Given the description of an element on the screen output the (x, y) to click on. 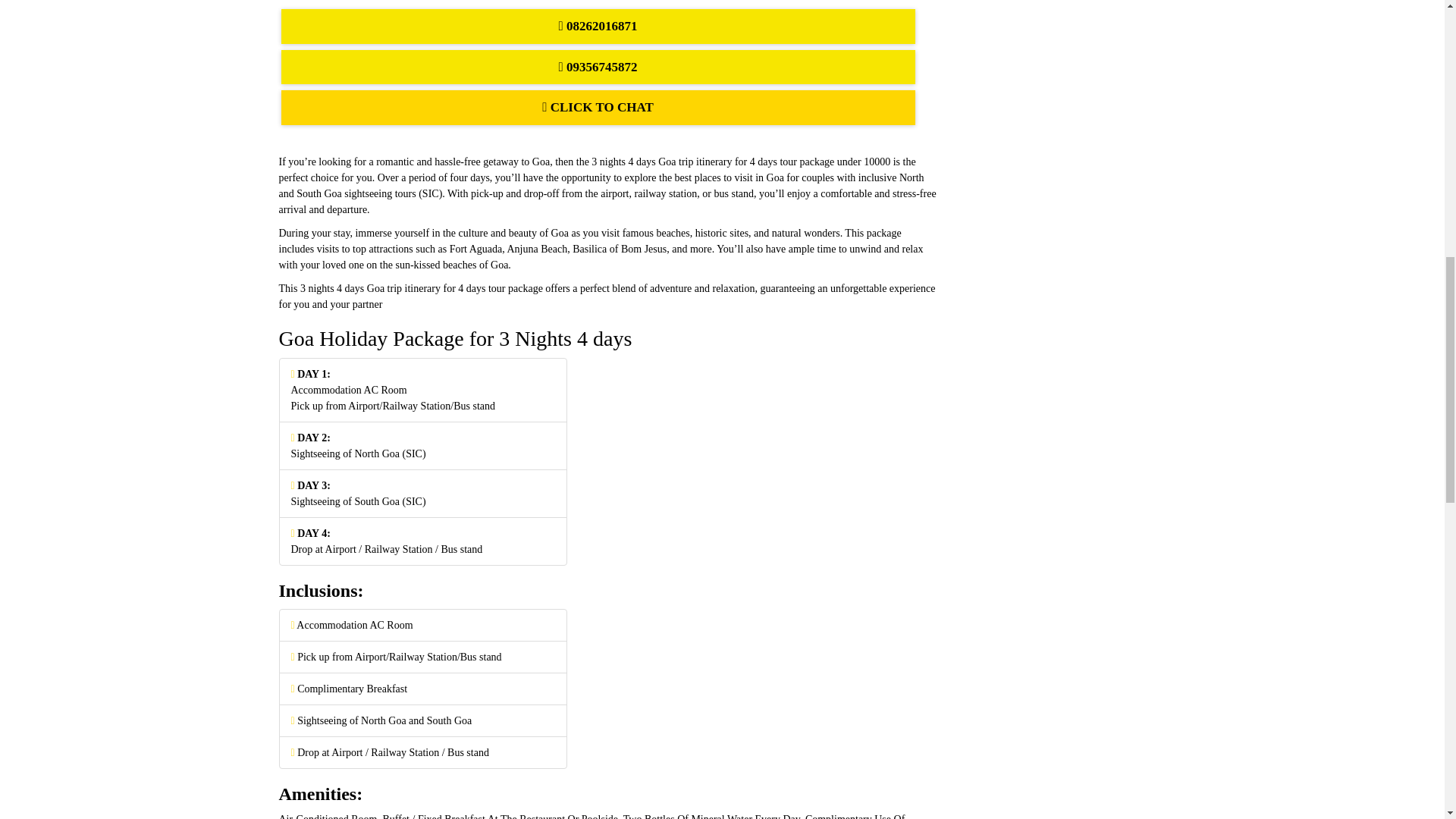
CLICK TO CHAT (597, 107)
08262016871 (597, 26)
09356745872 (597, 67)
